Given the description of an element on the screen output the (x, y) to click on. 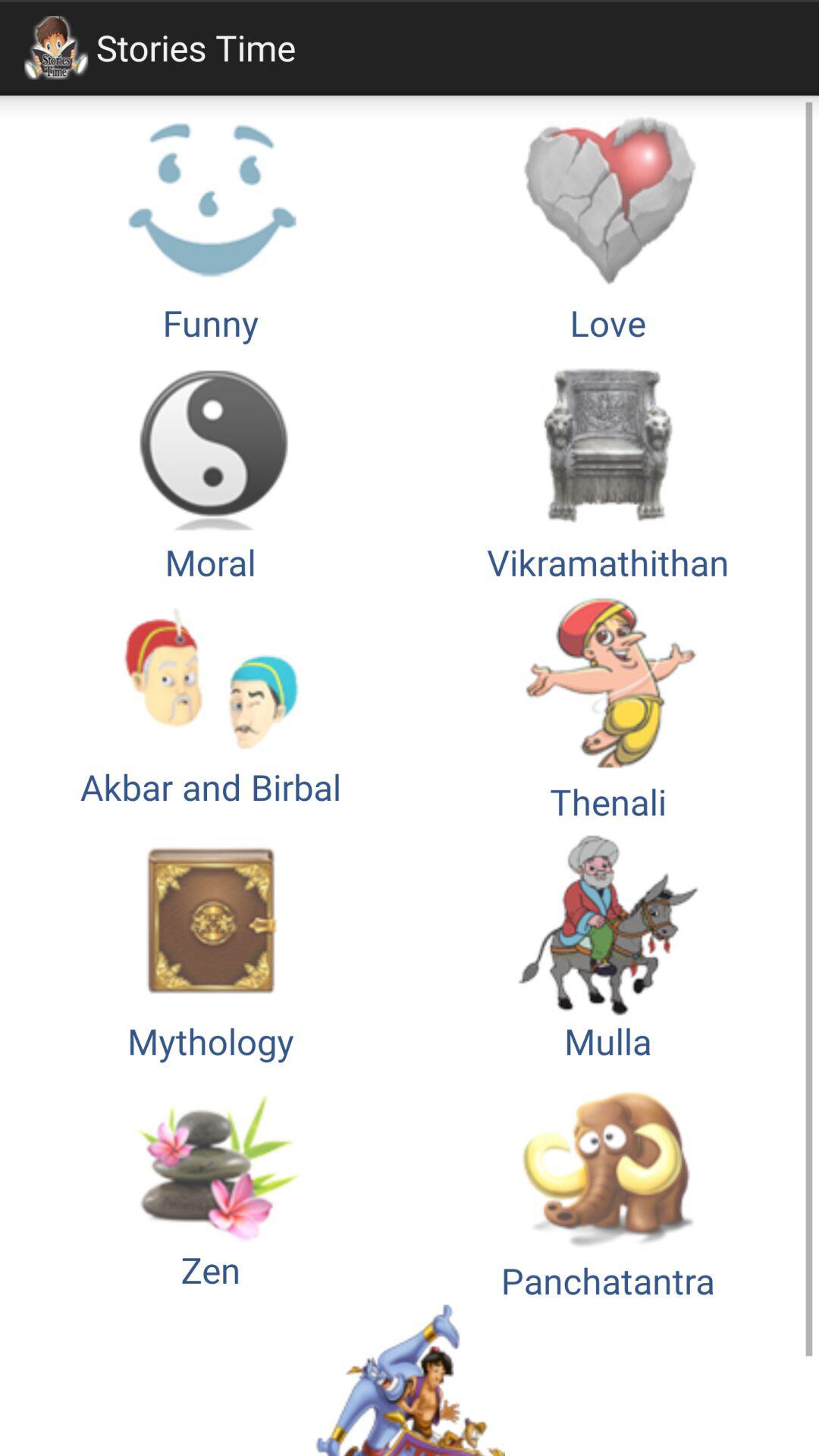
launch item at the bottom right corner (608, 1184)
